Given the description of an element on the screen output the (x, y) to click on. 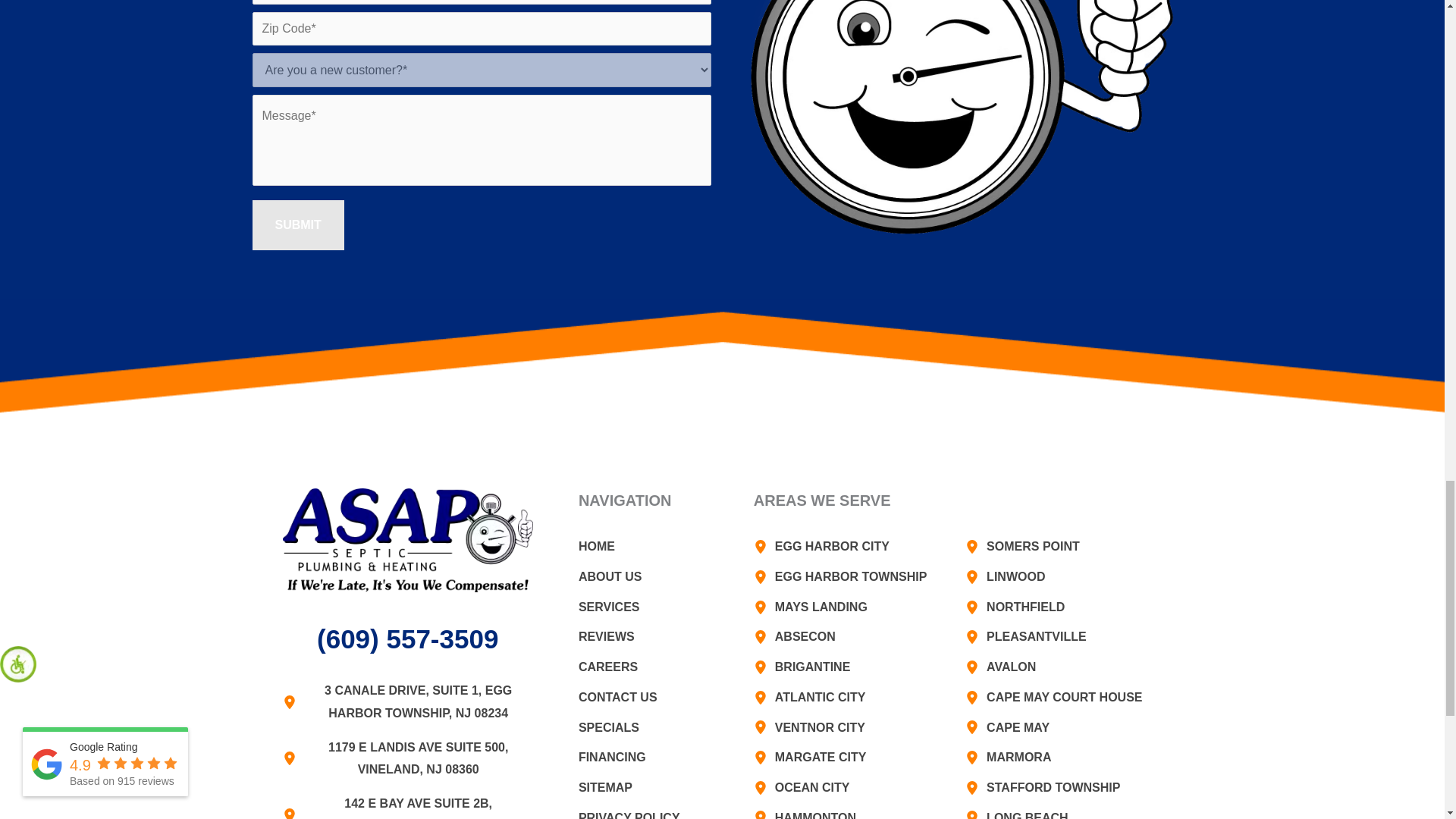
ASAP stopwatch Transparent (962, 11)
SUBMIT (297, 224)
